Given the description of an element on the screen output the (x, y) to click on. 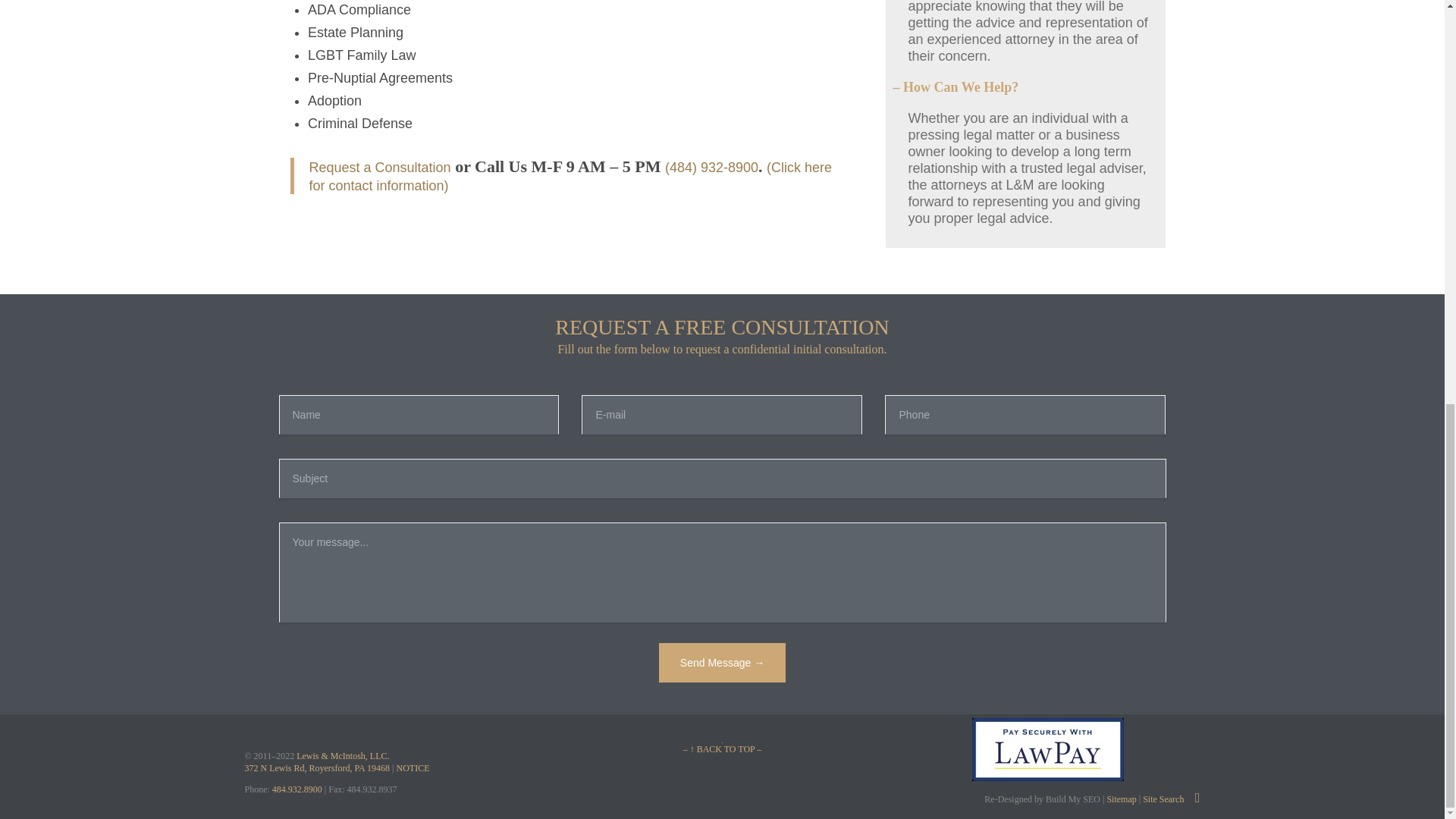
Request a Consultation (379, 167)
Sitemap (1119, 798)
484.932.8900 (296, 788)
NOTICE (412, 767)
